Given the description of an element on the screen output the (x, y) to click on. 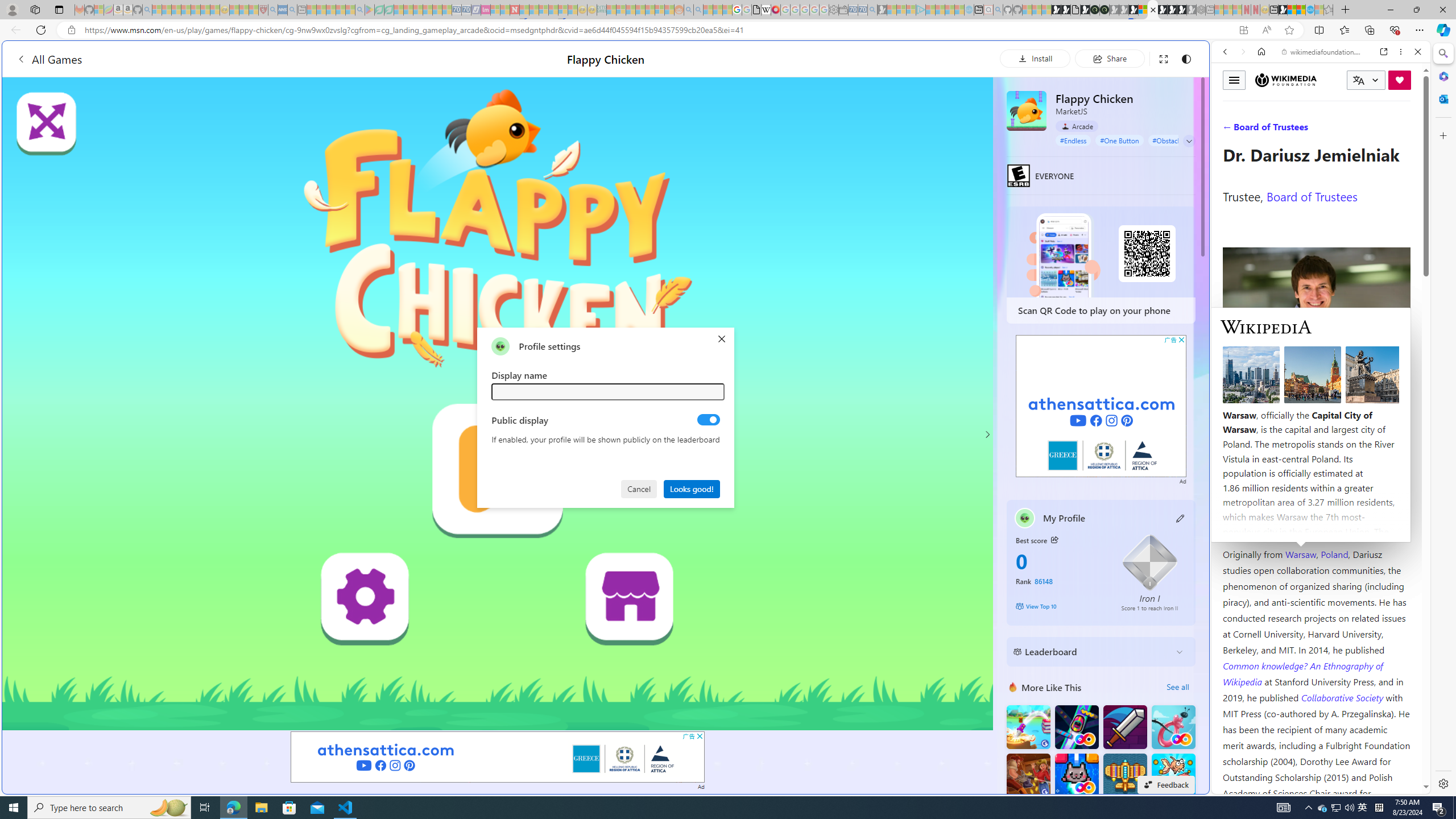
Class: control (1188, 140)
Local - MSN - Sleeping (253, 9)
Settings and more (Alt+F) (1419, 29)
Wallet - Sleeping (843, 9)
Poland (1334, 554)
Add this page to favorites (Ctrl+D) (1289, 29)
utah sues federal government - Search (922, 389)
Arcade (1076, 125)
